Given the description of an element on the screen output the (x, y) to click on. 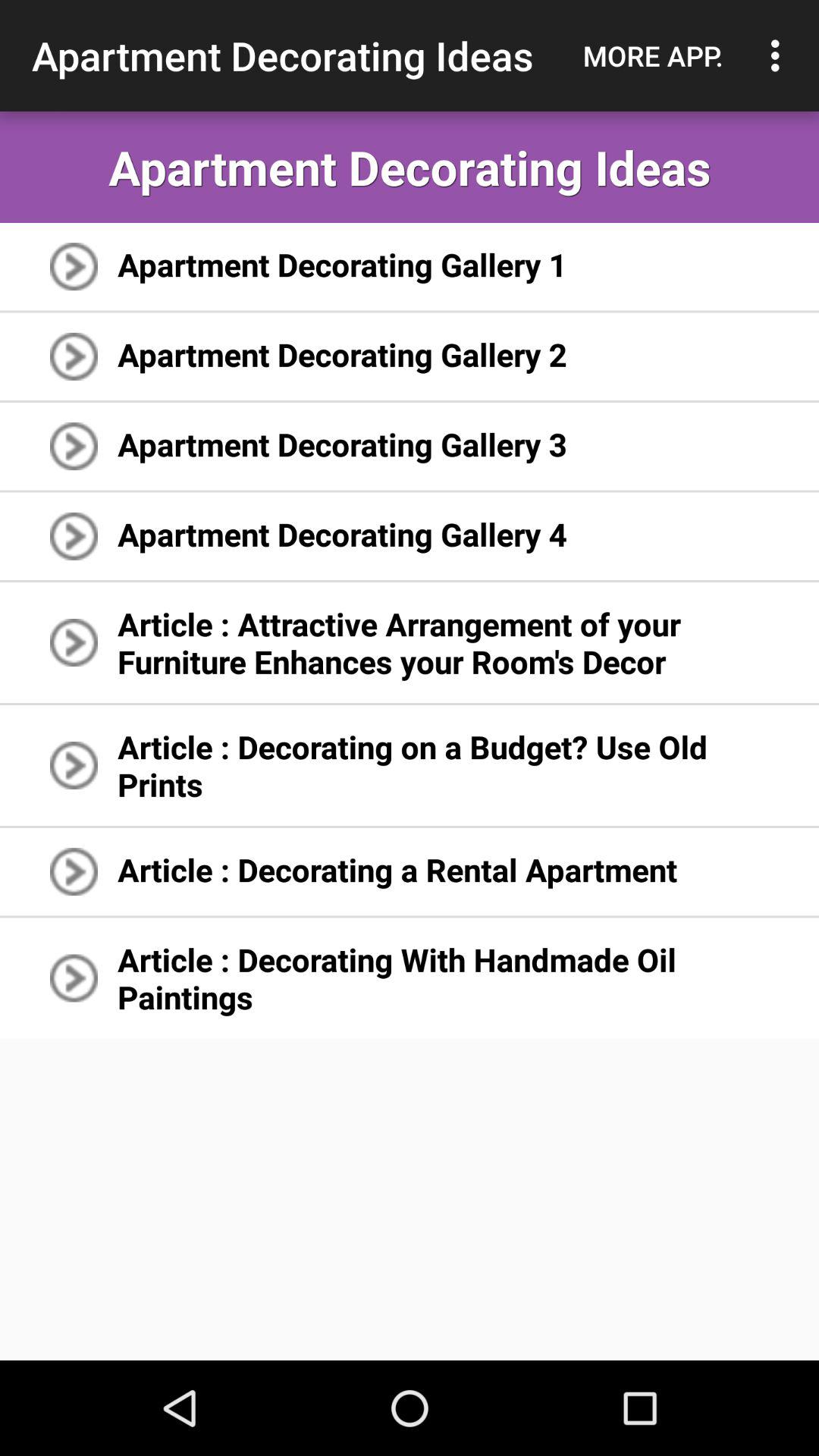
turn off the icon to the right of the apartment decorating ideas icon (653, 55)
